Given the description of an element on the screen output the (x, y) to click on. 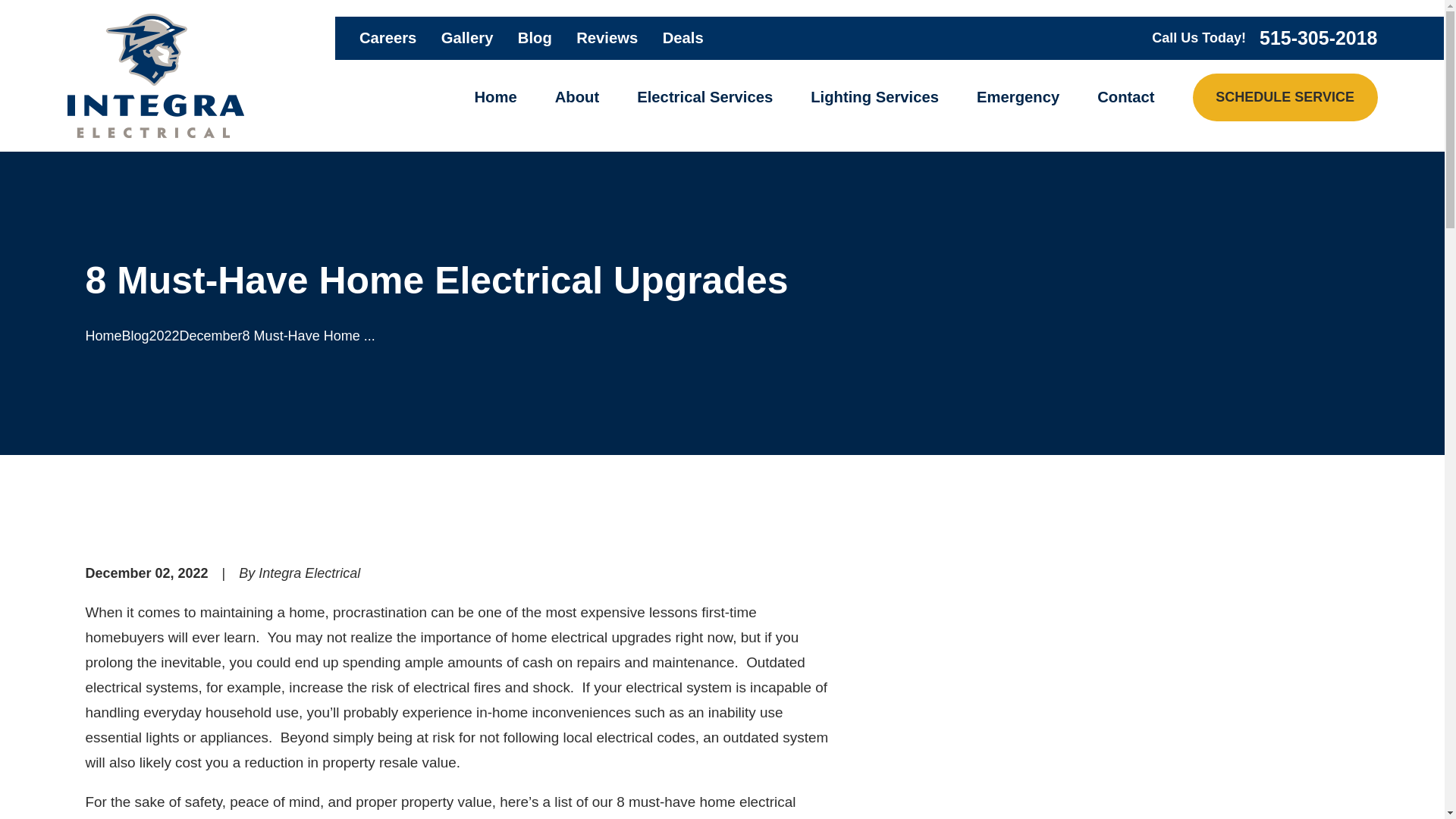
About (576, 97)
Deals (682, 37)
Emergency (1017, 97)
Blog (534, 37)
Electrical Services (705, 97)
Gallery (467, 37)
Lighting Services (874, 97)
Home (495, 97)
Reviews (606, 37)
Contact (1125, 97)
